Given the description of an element on the screen output the (x, y) to click on. 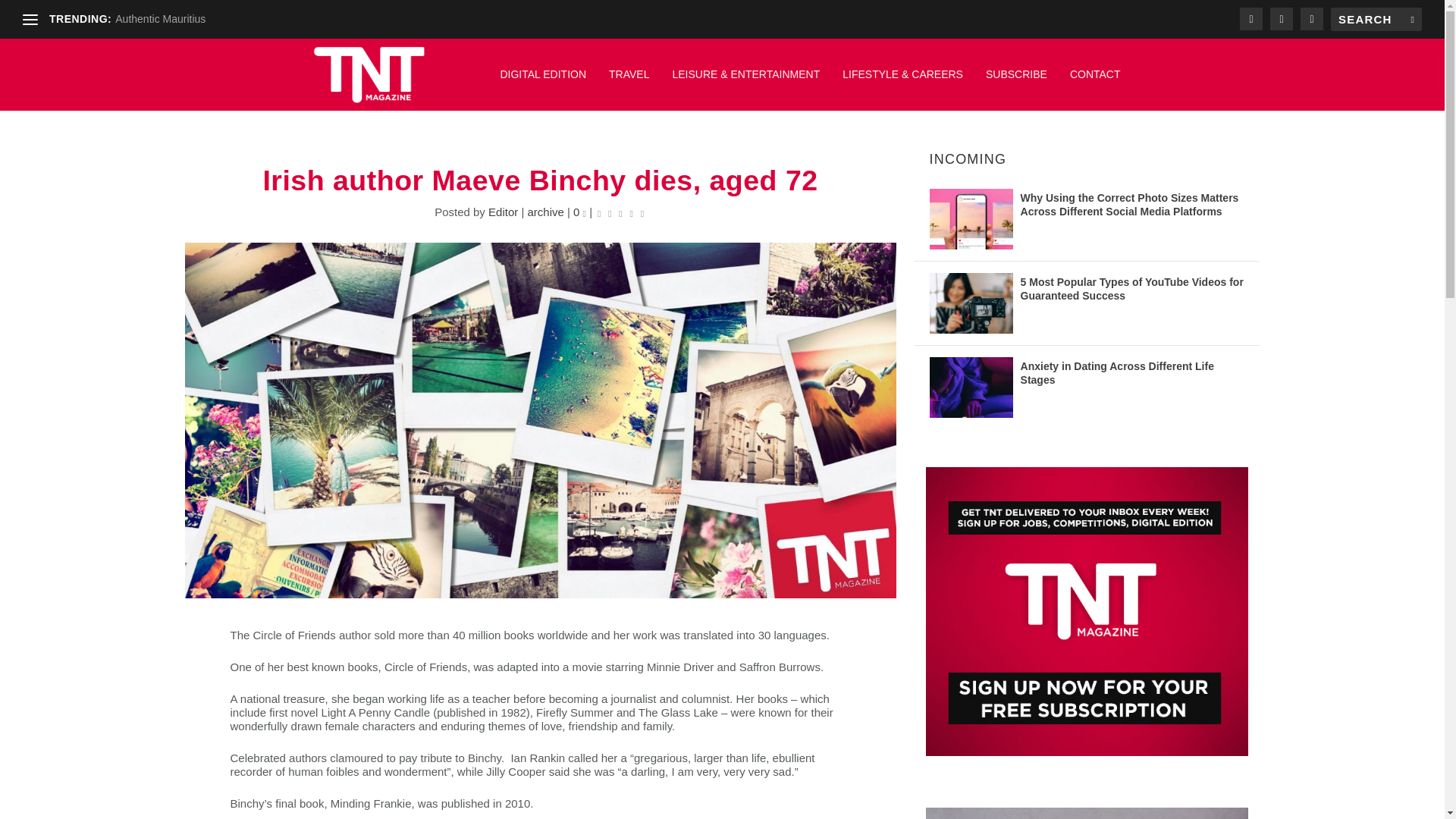
Editor (502, 211)
Authentic Mauritius (160, 19)
Search for: (1376, 19)
0 (579, 211)
SUBSCRIBE (1015, 82)
DIGITAL EDITION (542, 82)
Rating: 0.00 (620, 212)
Posts by Editor (502, 211)
archive (545, 211)
